Given the description of an element on the screen output the (x, y) to click on. 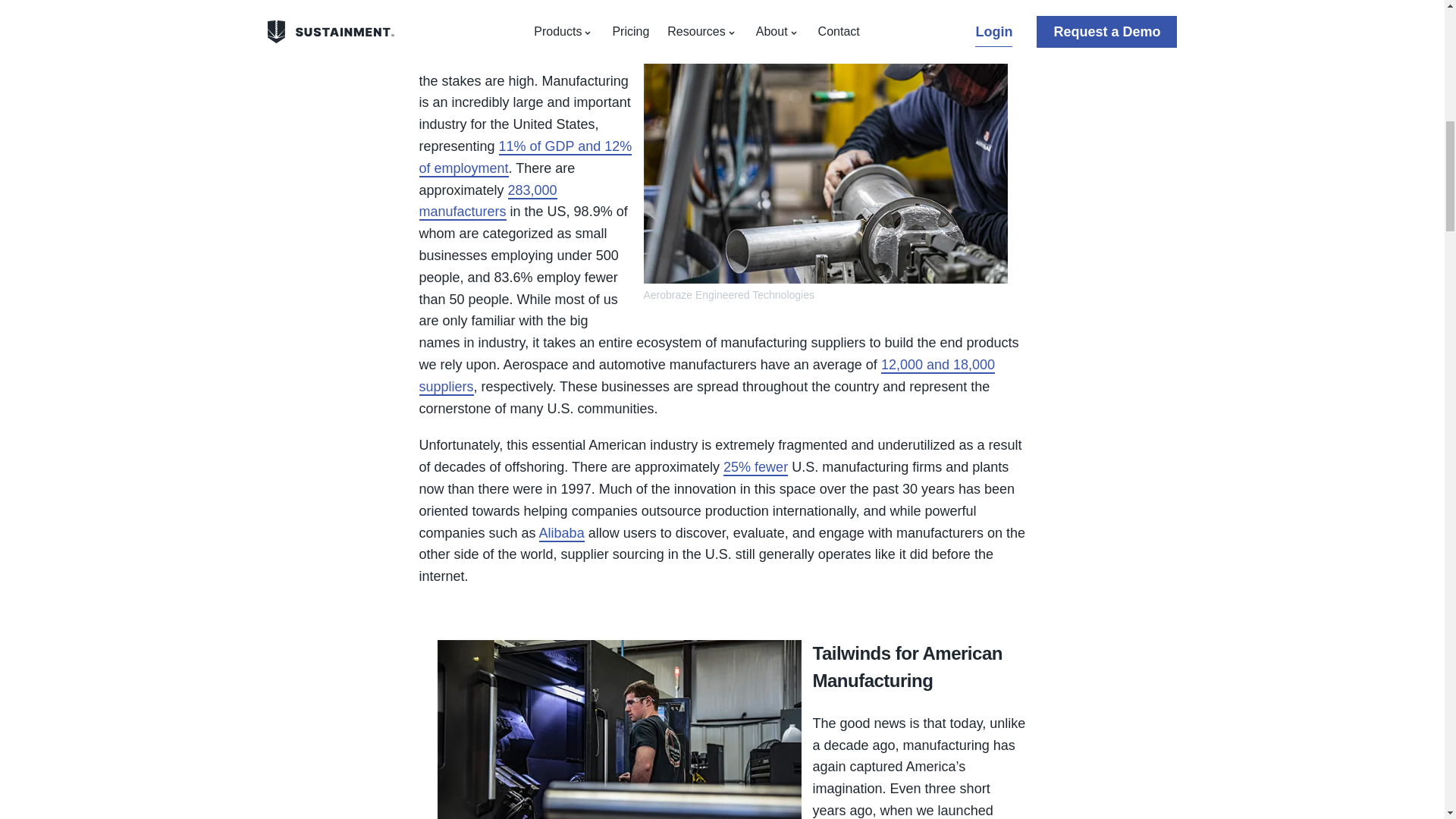
Alibaba (561, 533)
12,000 and 18,000 suppliers (706, 376)
283,000 manufacturers (487, 201)
